Given the description of an element on the screen output the (x, y) to click on. 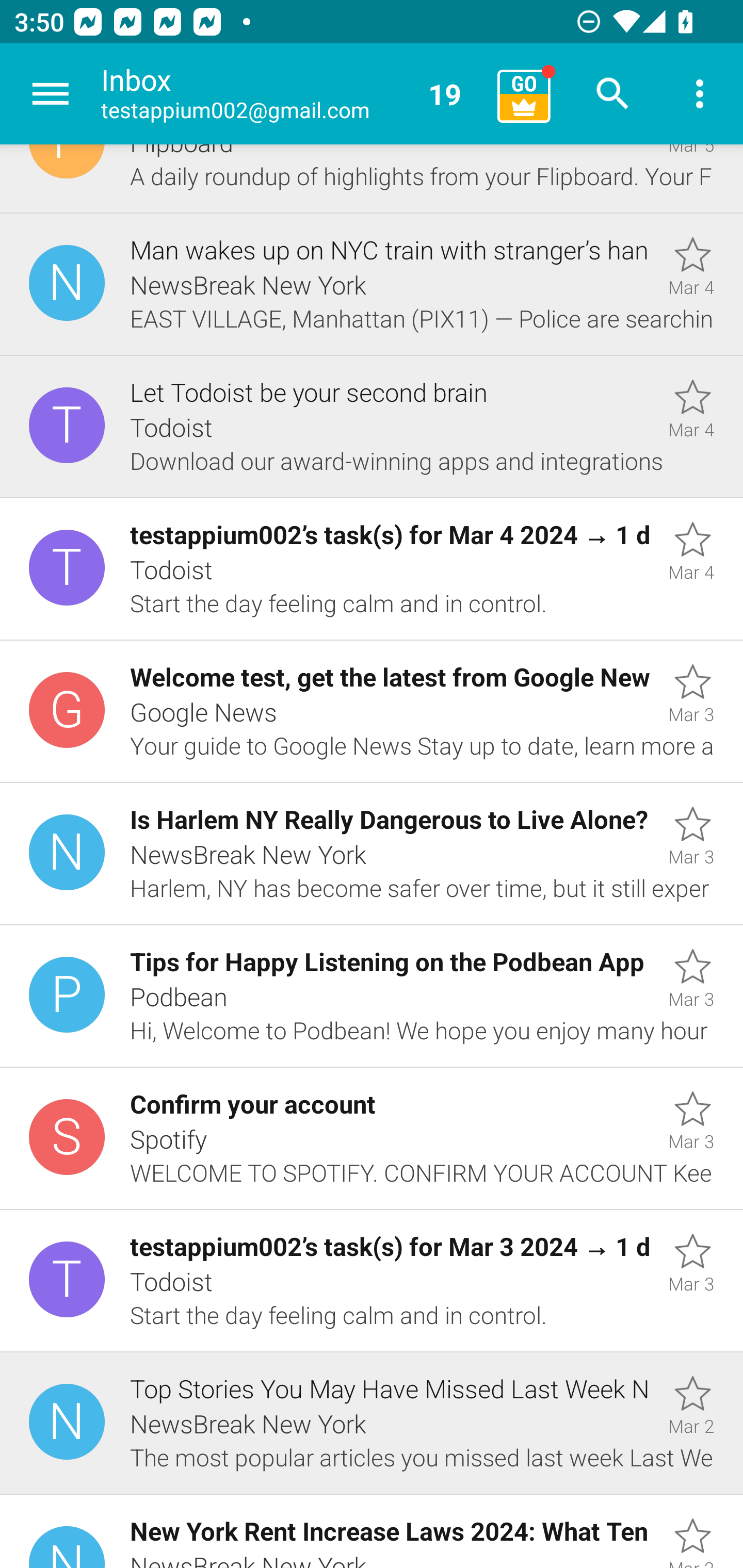
Navigate up (50, 93)
Inbox testappium002@gmail.com 19 (291, 93)
Search (612, 93)
More options (699, 93)
